Given the description of an element on the screen output the (x, y) to click on. 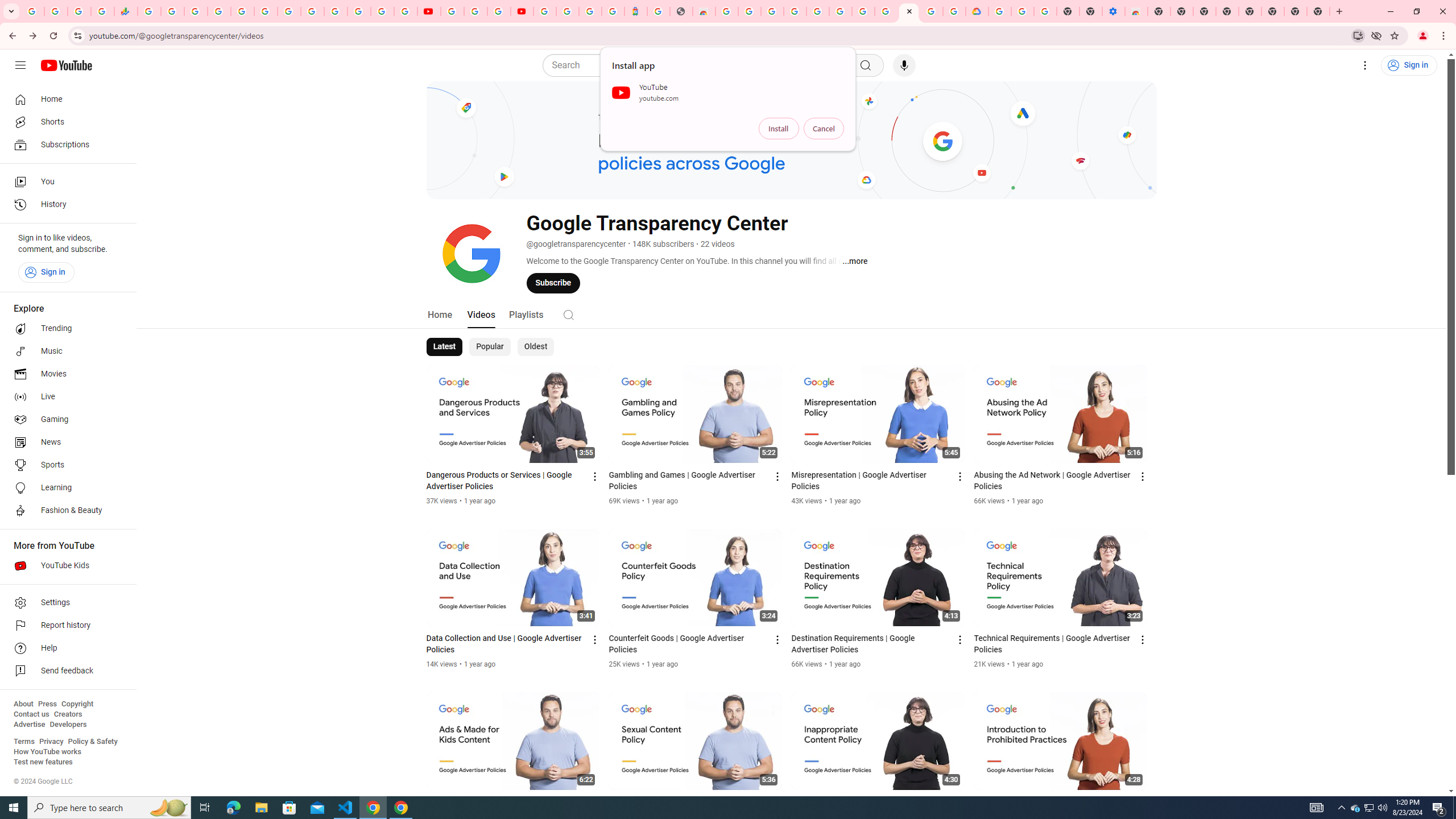
About (23, 703)
New Tab (1158, 11)
Browse the Google Chrome Community - Google Chrome Community (954, 11)
Google Account Help (863, 11)
Chrome Web Store - Accessibility extensions (1136, 11)
News (64, 441)
Advertise (29, 724)
Sports (64, 464)
